Given the description of an element on the screen output the (x, y) to click on. 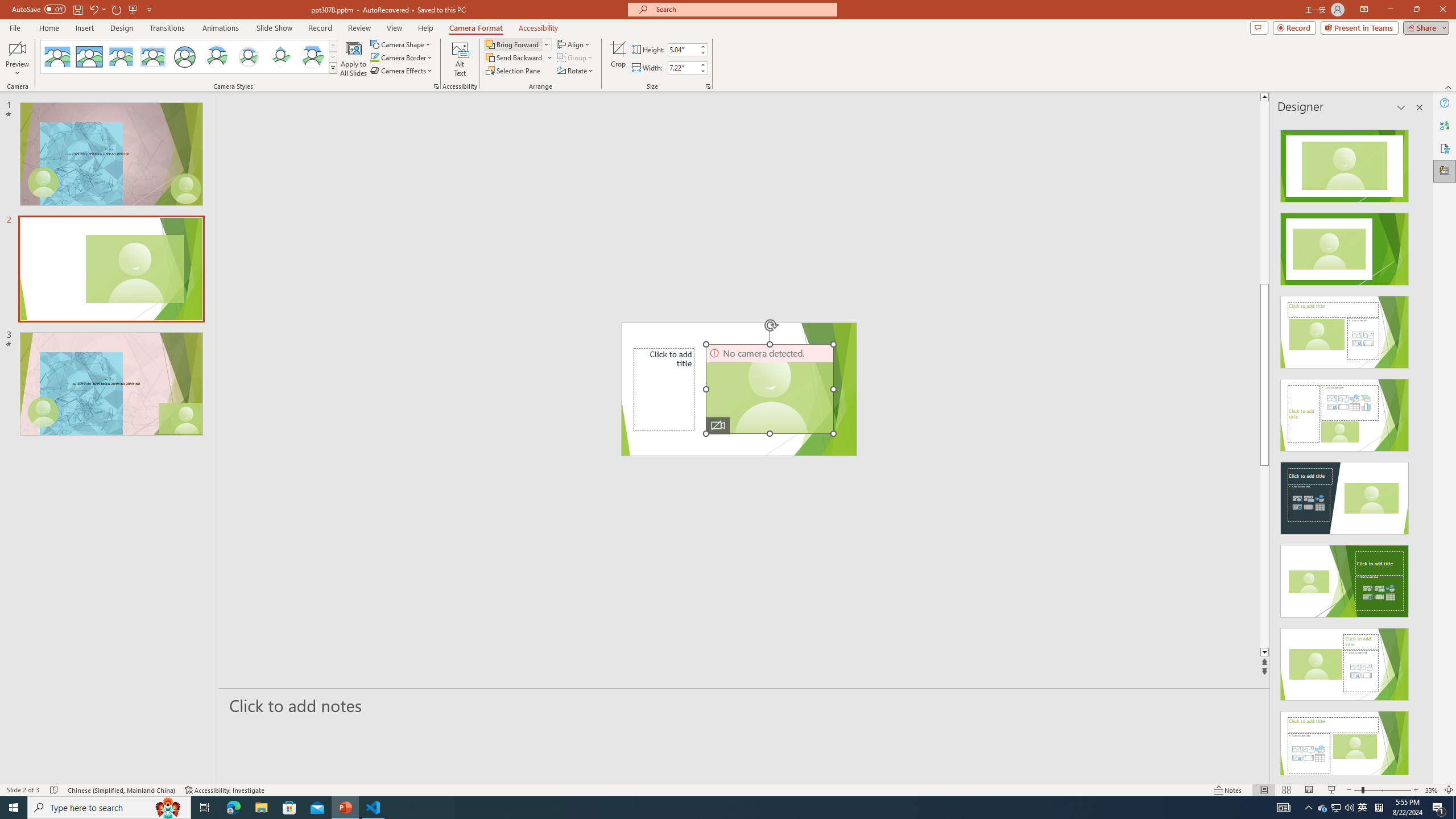
Simple Frame Rectangle (88, 56)
Camera Border Green, Accent 1 (374, 56)
Camera Border (401, 56)
Crop (617, 58)
